Given the description of an element on the screen output the (x, y) to click on. 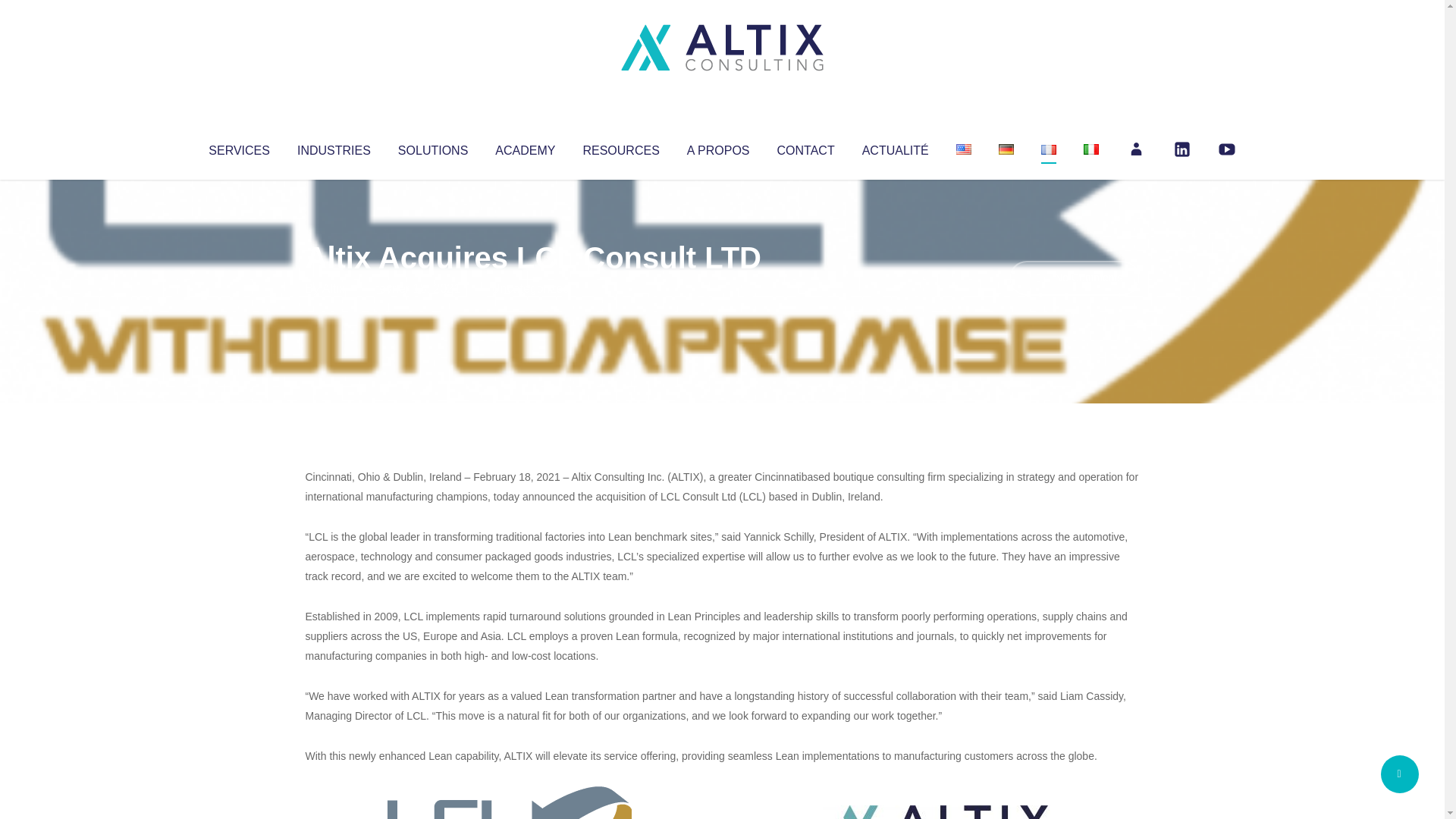
SERVICES (238, 146)
No Comments (1073, 278)
INDUSTRIES (334, 146)
ACADEMY (524, 146)
RESOURCES (620, 146)
Altix (333, 287)
A PROPOS (718, 146)
Uncategorized (530, 287)
SOLUTIONS (432, 146)
Articles par Altix (333, 287)
